Given the description of an element on the screen output the (x, y) to click on. 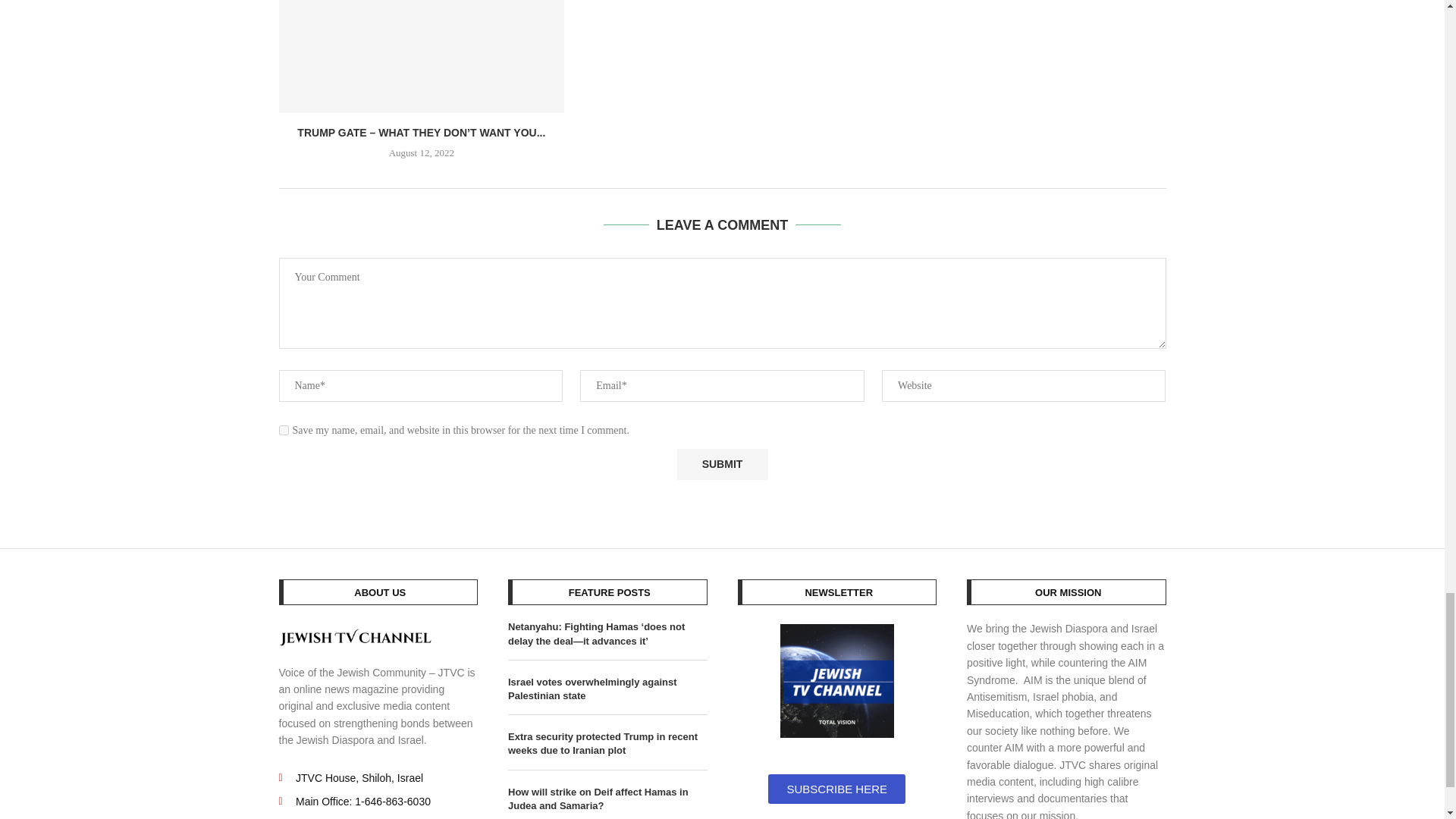
yes (283, 429)
Submit (722, 463)
